Given the description of an element on the screen output the (x, y) to click on. 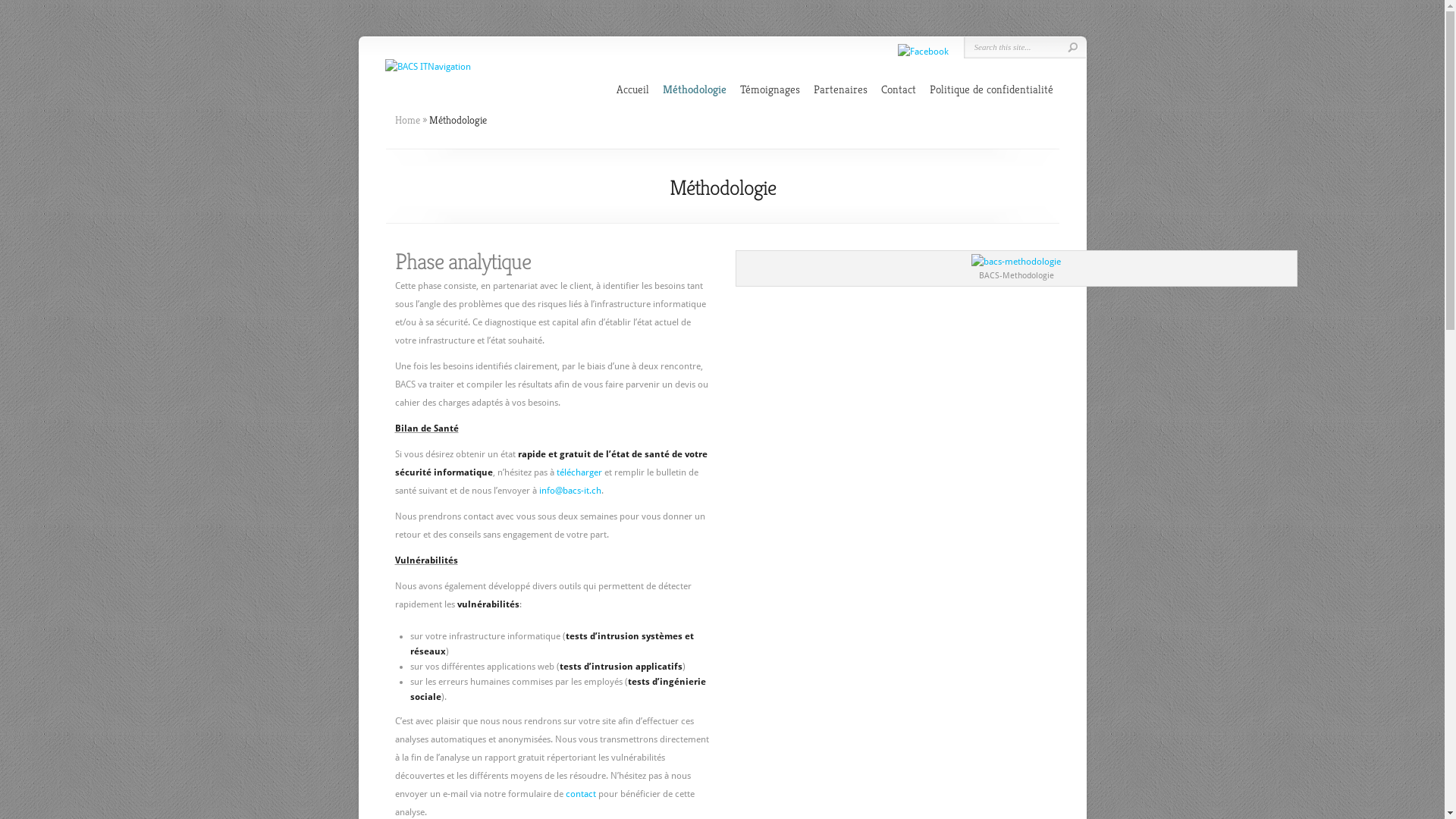
Partenaires Element type: text (839, 89)
info@bacs-it.ch Element type: text (569, 490)
Contact Element type: text (898, 89)
Navigation Element type: text (448, 66)
Accueil Element type: text (631, 89)
Home Element type: text (406, 119)
contact Element type: text (581, 793)
